Given the description of an element on the screen output the (x, y) to click on. 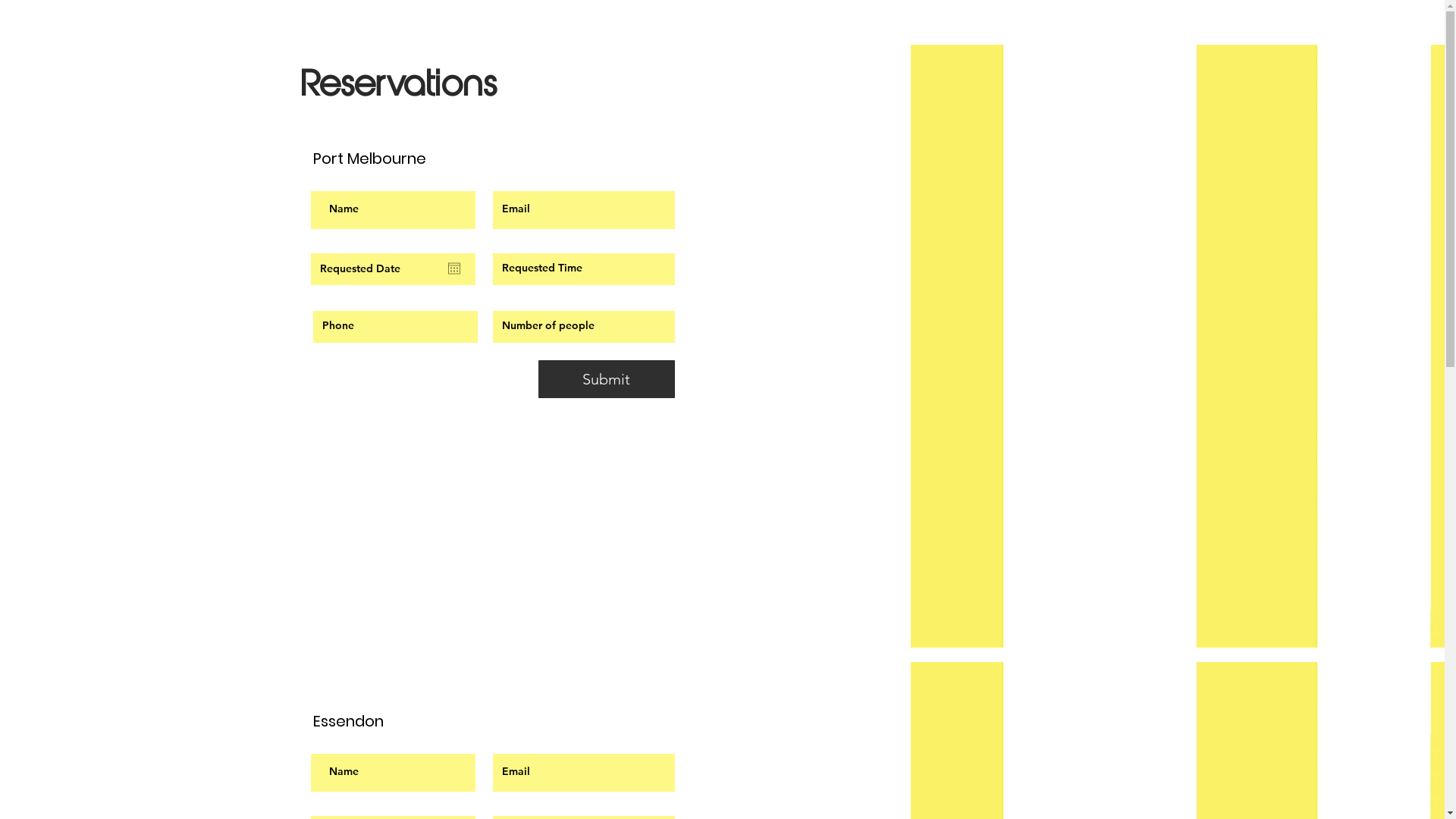
Submit Element type: text (606, 379)
